Given the description of an element on the screen output the (x, y) to click on. 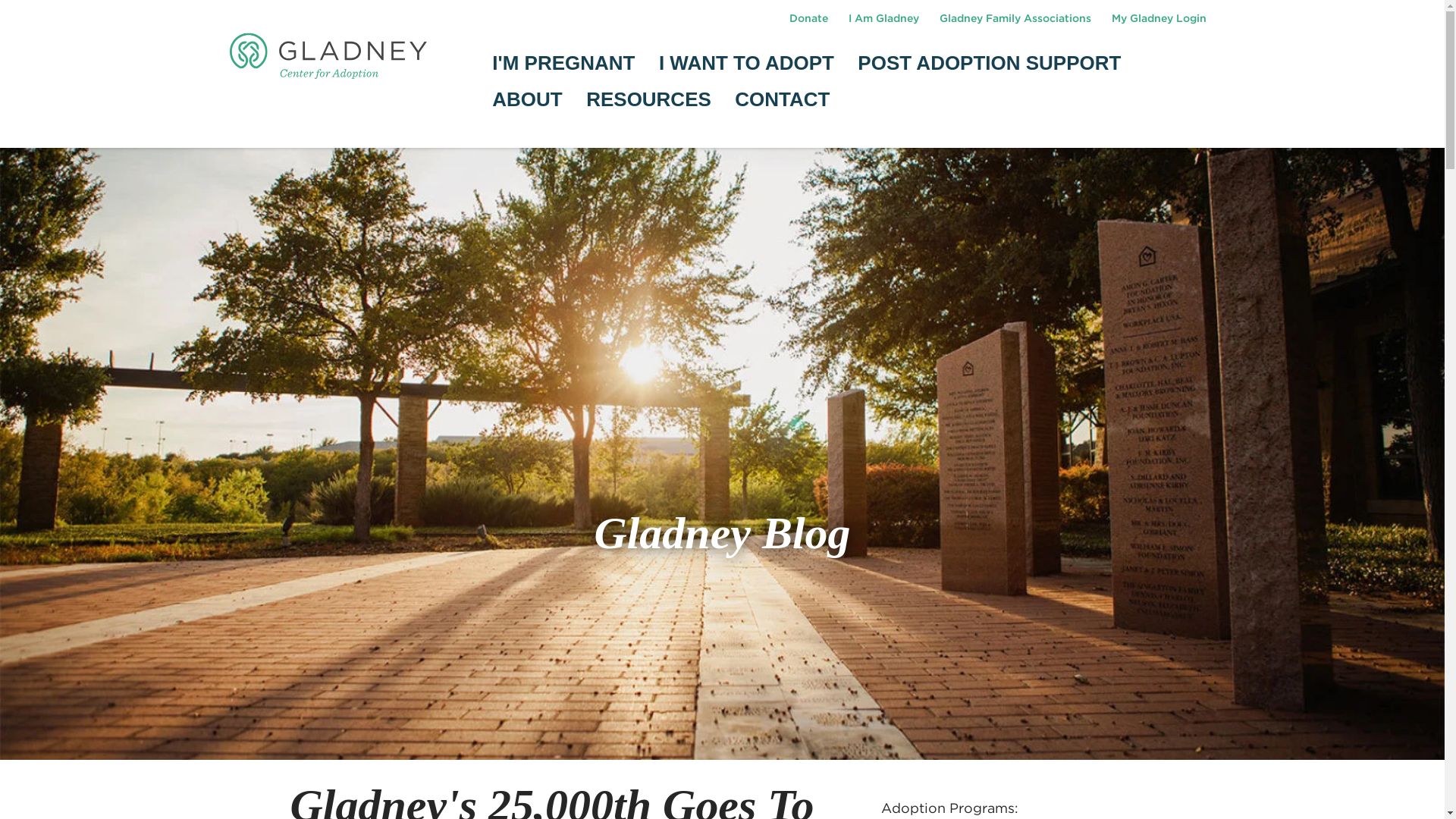
Gladney Family Associations (1016, 17)
Donate (808, 17)
Gladney Center for Adoption (327, 55)
ABOUT (526, 99)
I WANT TO ADOPT (745, 63)
I Am Gladney (884, 17)
POST ADOPTION SUPPORT (989, 63)
RESOURCES (649, 99)
I'M PREGNANT (563, 63)
My Gladney Login (1157, 17)
CONTACT (782, 99)
